Given the description of an element on the screen output the (x, y) to click on. 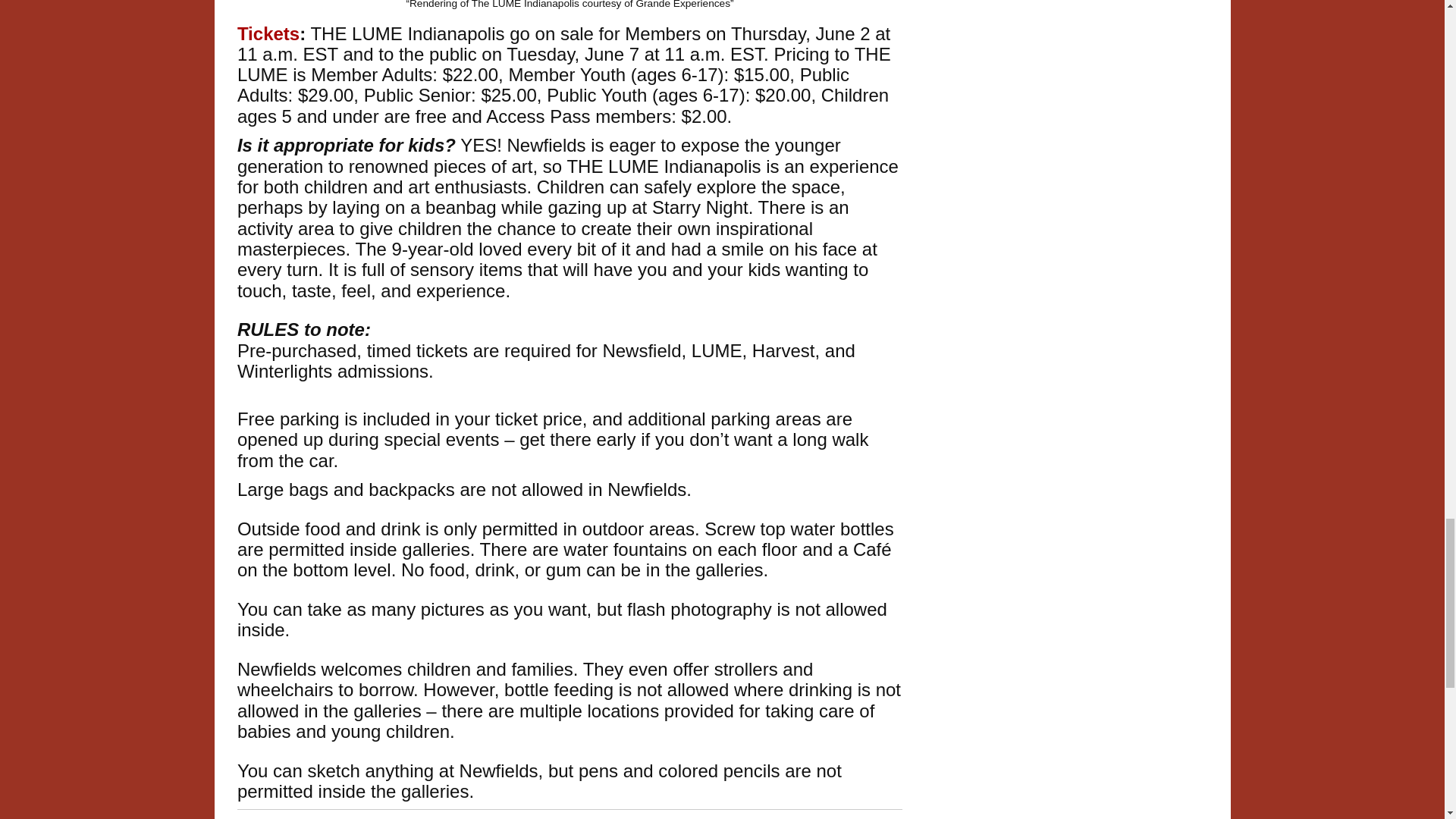
Tickets (268, 32)
